Given the description of an element on the screen output the (x, y) to click on. 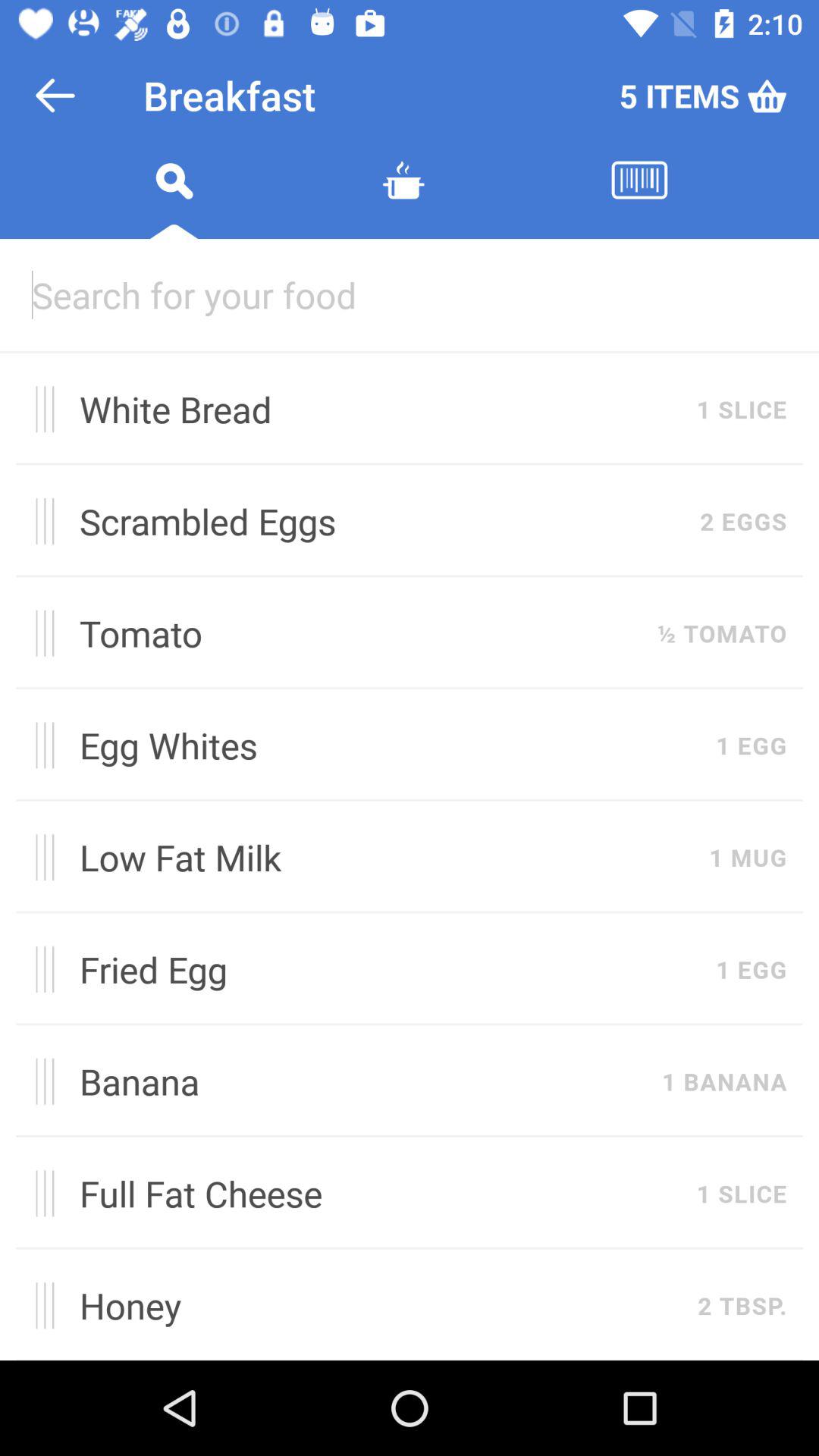
press the item to the left of scrambled eggs (39, 521)
